Given the description of an element on the screen output the (x, y) to click on. 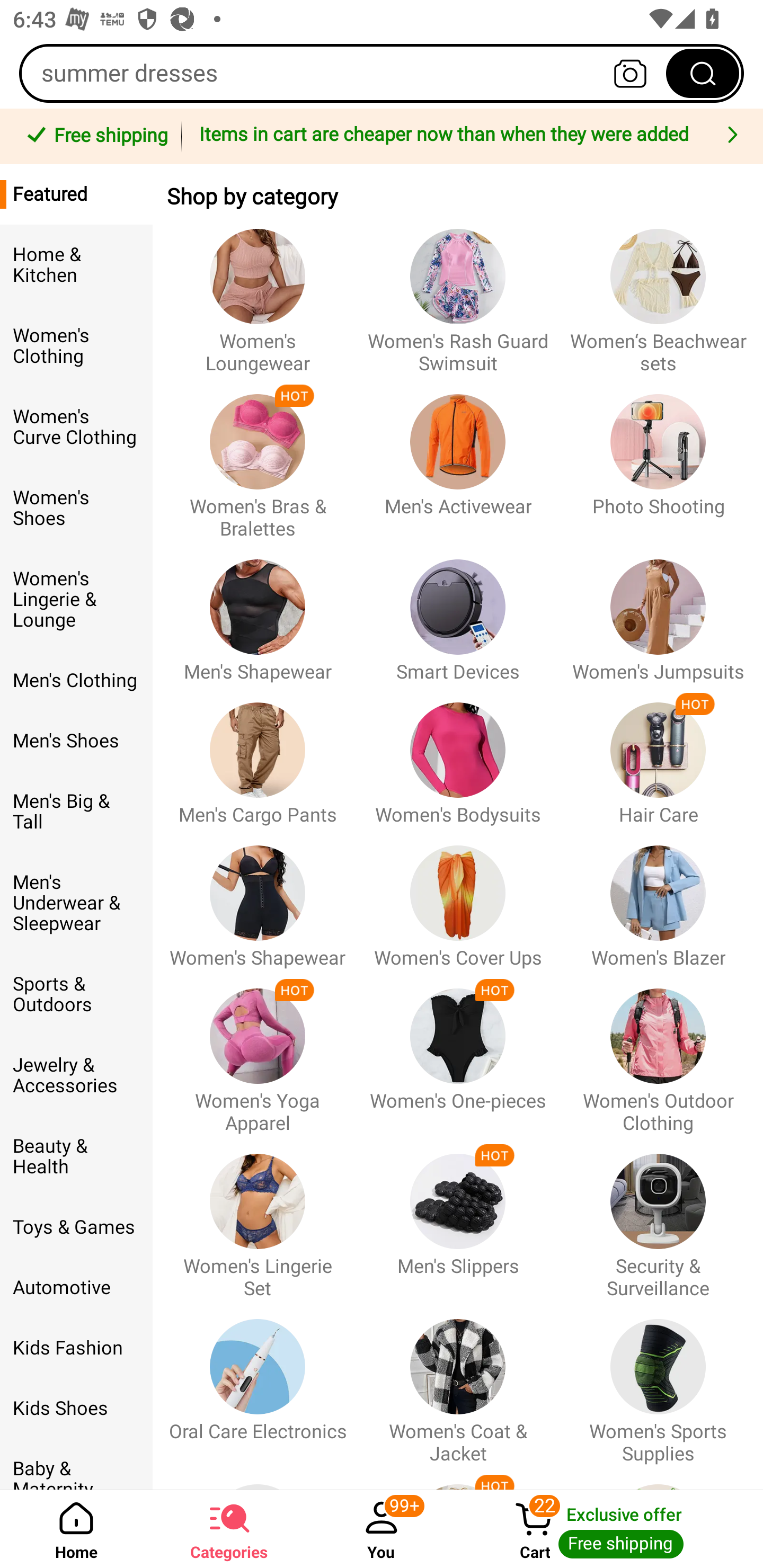
summer dresses (381, 73)
 Free shipping (93, 136)
Featured (76, 194)
Women's Loungewear (257, 292)
Women's Rash Guard Swimsuit (457, 292)
Women‘s Beachwear sets (657, 292)
Home & Kitchen (76, 264)
Women's Clothing (76, 346)
Women's Bras & Bralettes (257, 457)
Men's Activewear (457, 457)
Photo Shooting (657, 457)
Women's Curve Clothing (76, 427)
Women's Shoes (76, 507)
Men's Shapewear (257, 611)
Smart Devices (457, 611)
Women's Jumpsuits (657, 611)
Women's Lingerie & Lounge (76, 599)
Men's Clothing (76, 680)
Men's Cargo Pants (257, 754)
Women's Bodysuits (457, 754)
Hair Care (657, 754)
Men's Shoes (76, 740)
Men's Big & Tall (76, 811)
Women's Shapewear (257, 897)
Women's Cover Ups (457, 897)
Women's Blazer (657, 897)
Men's Underwear & Sleepwear (76, 902)
Sports & Outdoors (76, 993)
Women's Yoga Apparel (257, 1052)
Women's One-pieces (457, 1052)
Women's Outdoor Clothing (657, 1052)
Jewelry & Accessories (76, 1075)
Beauty & Health (76, 1156)
Women's Lingerie Set (257, 1217)
Men's Slippers (457, 1217)
Security & Surveillance (657, 1217)
Toys & Games (76, 1227)
Automotive (76, 1287)
Oral Care Electronics (257, 1381)
Women's Coat & Jacket (457, 1381)
Women's Sports Supplies (657, 1381)
Kids Fashion (76, 1348)
Kids Shoes (76, 1408)
Home (76, 1528)
Categories (228, 1528)
You ‎99+‎ You (381, 1528)
Cart 22 Cart Exclusive offer (610, 1528)
